Given the description of an element on the screen output the (x, y) to click on. 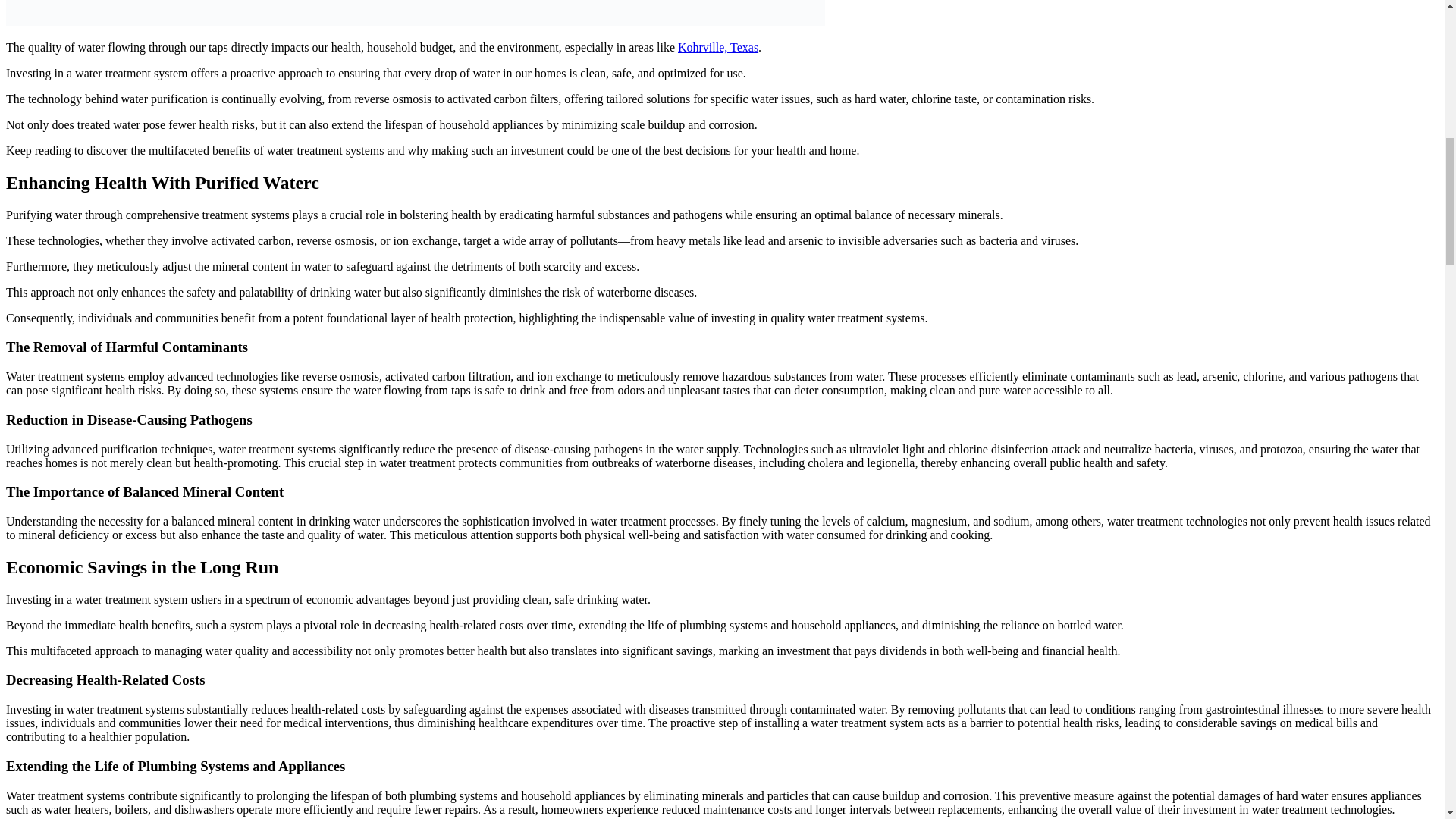
Kohrville, Texas (718, 47)
